Given the description of an element on the screen output the (x, y) to click on. 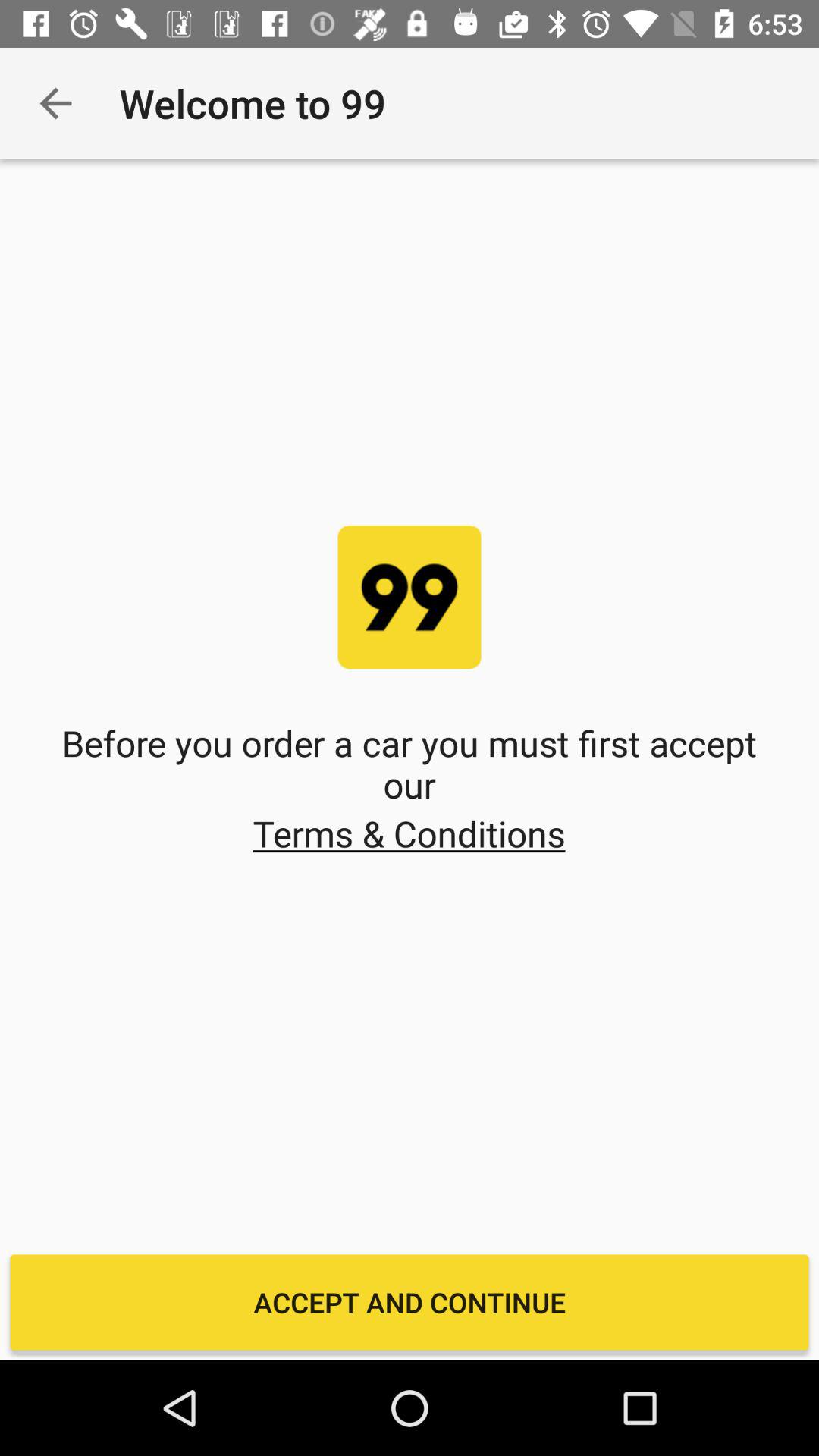
flip until the accept and continue icon (409, 1302)
